Given the description of an element on the screen output the (x, y) to click on. 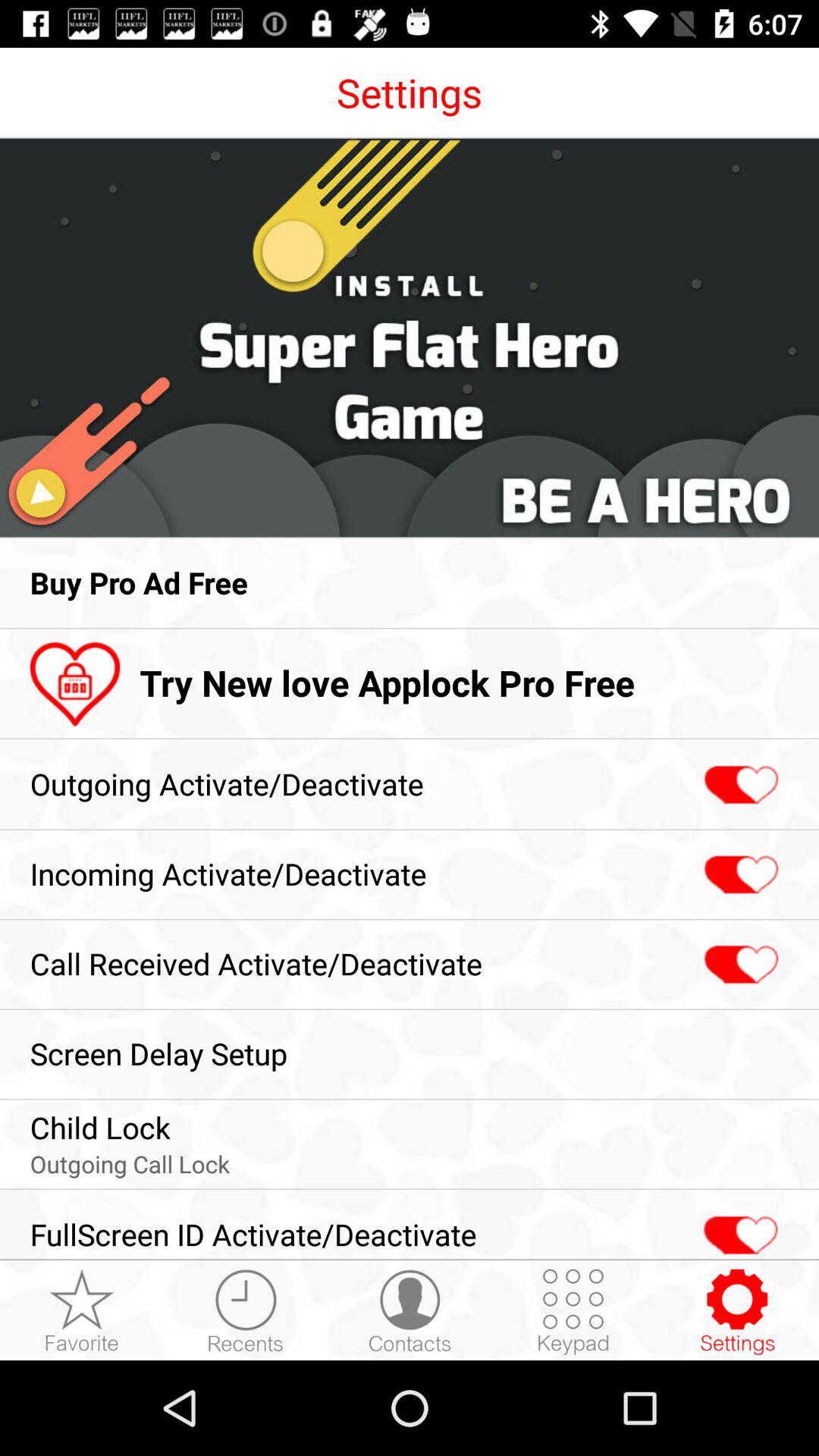
incomingactivate (739, 875)
